Given the description of an element on the screen output the (x, y) to click on. 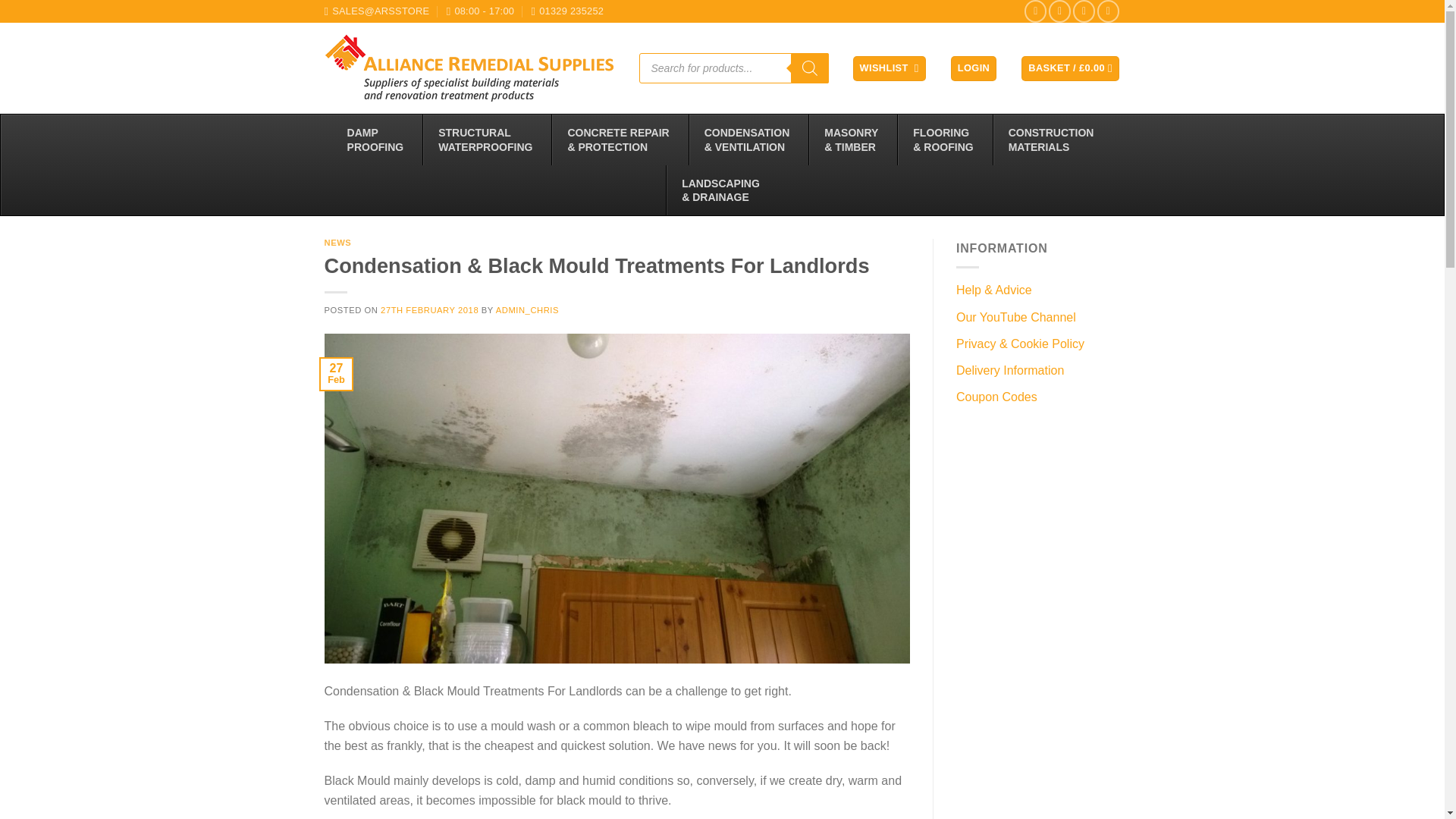
LOGIN (972, 68)
Follow on Facebook (1035, 11)
01329 235252 (567, 11)
01329 235252 (567, 11)
08:00 - 17:00 (480, 11)
WISHLIST (889, 68)
Follow on YouTube (1108, 11)
Follow on Instagram (1059, 11)
Follow on LinkedIn (1083, 11)
